Given the description of an element on the screen output the (x, y) to click on. 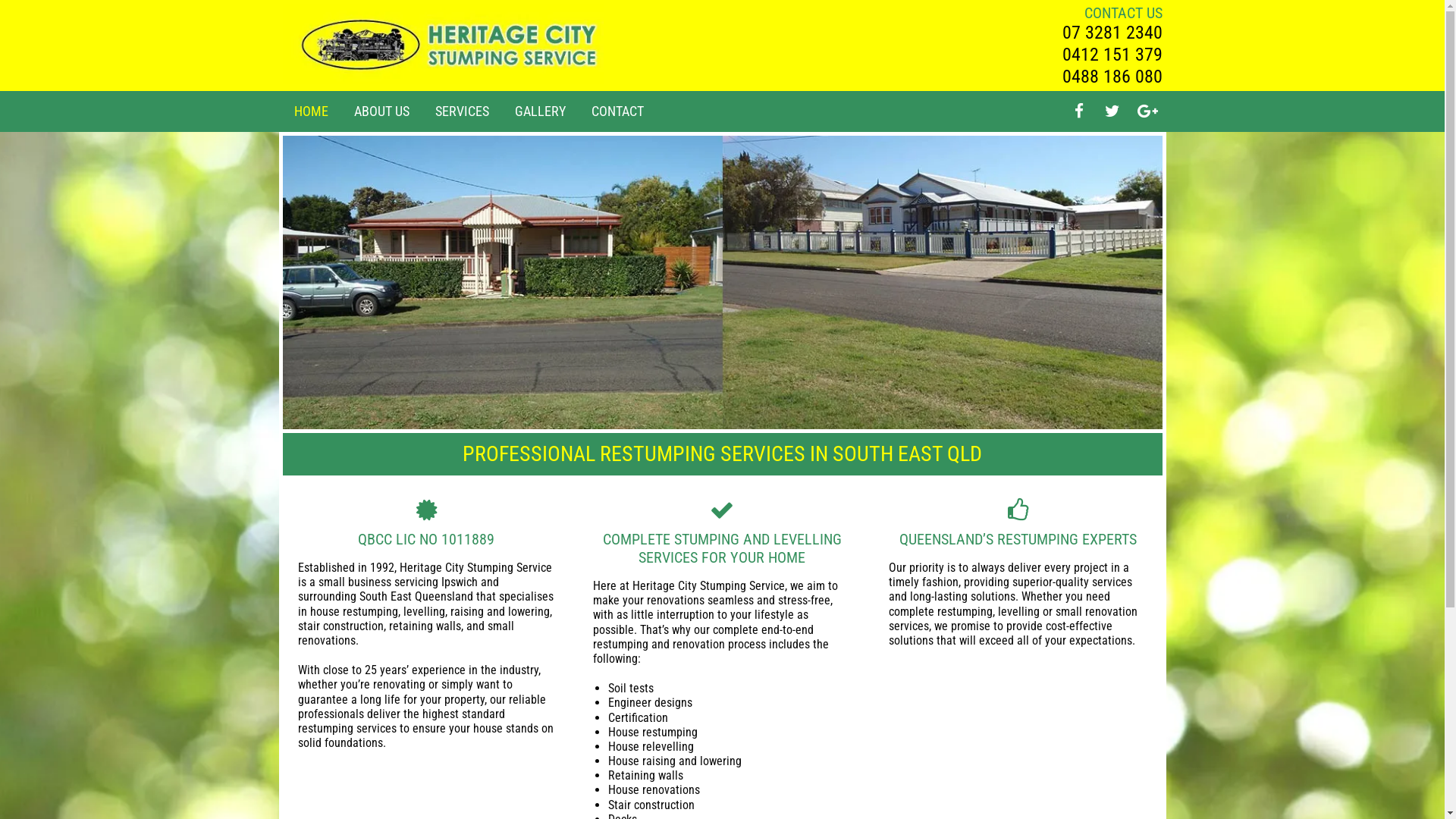
CONTACT Element type: text (617, 111)
07 3281 2340 Element type: text (1111, 32)
0412 151 379 Element type: text (1111, 54)
heritage city stumping service logo Element type: hover (442, 43)
SERVICES Element type: text (462, 111)
GALLERY Element type: text (539, 111)
0488 186 080 Element type: text (1111, 76)
heritage city stumping house service re stumping services Element type: hover (721, 282)
HOME Element type: text (311, 111)
ABOUT US Element type: text (380, 111)
